Given the description of an element on the screen output the (x, y) to click on. 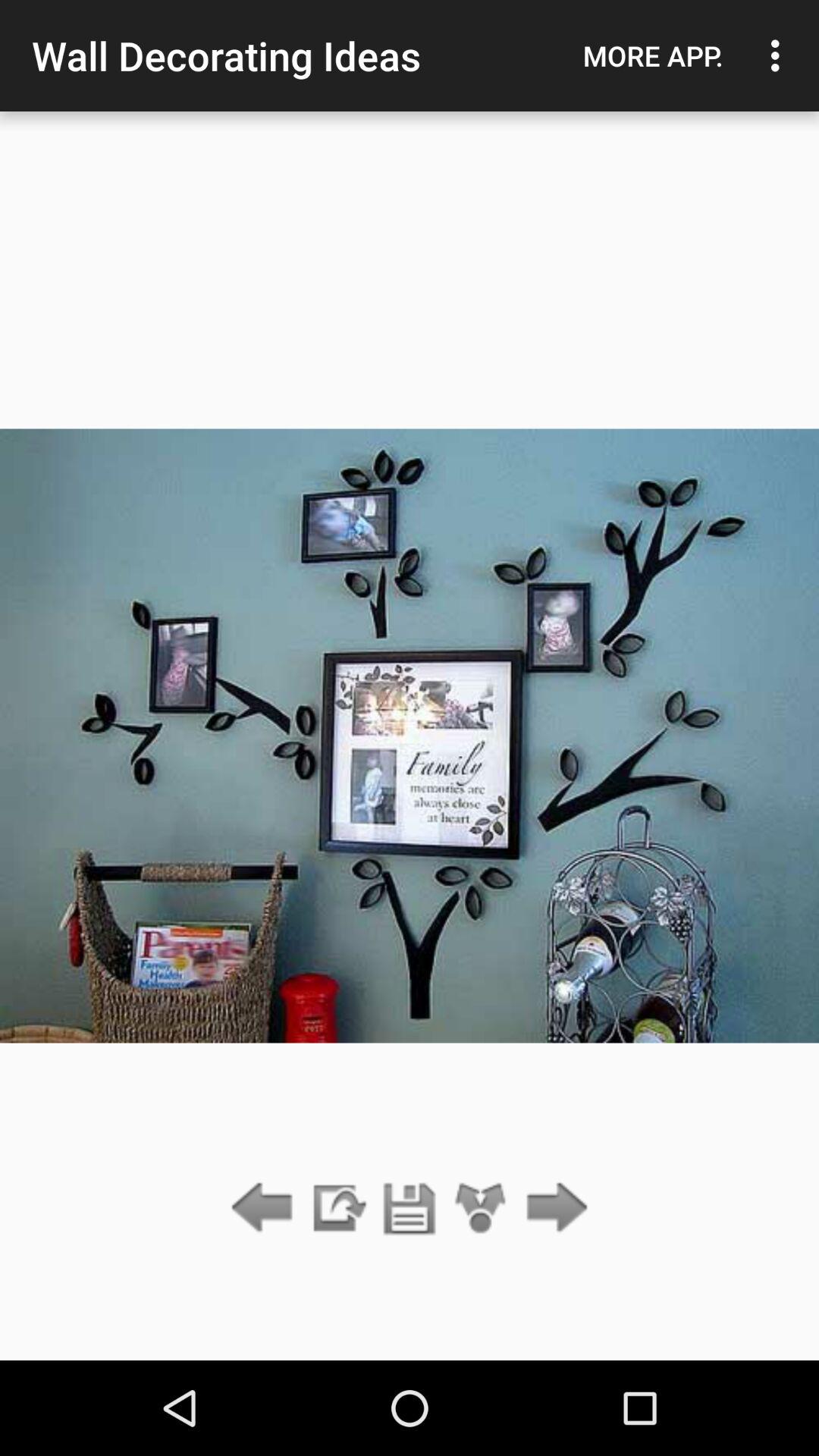
press icon at the bottom right corner (552, 1209)
